Given the description of an element on the screen output the (x, y) to click on. 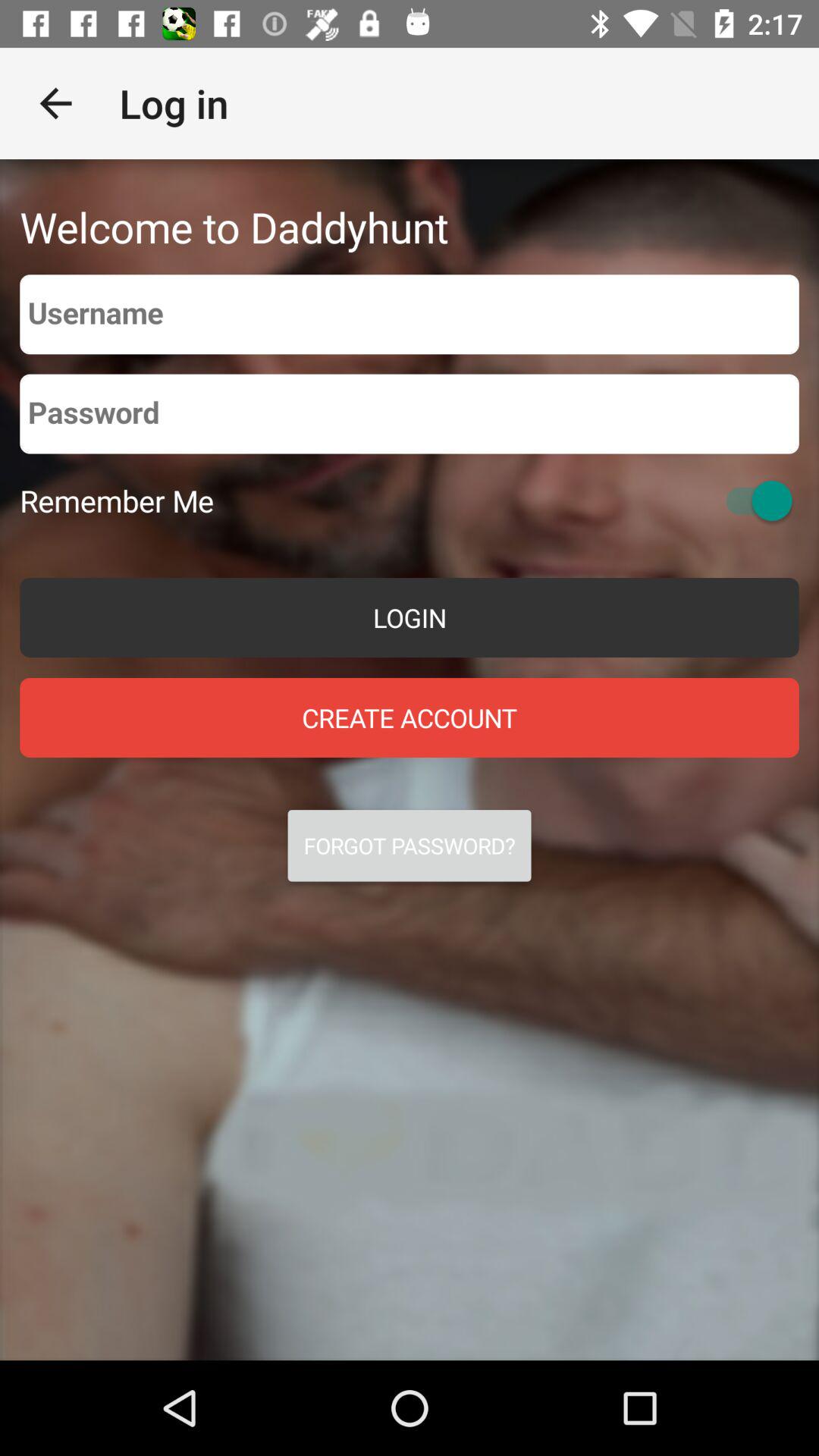
input password (409, 413)
